Given the description of an element on the screen output the (x, y) to click on. 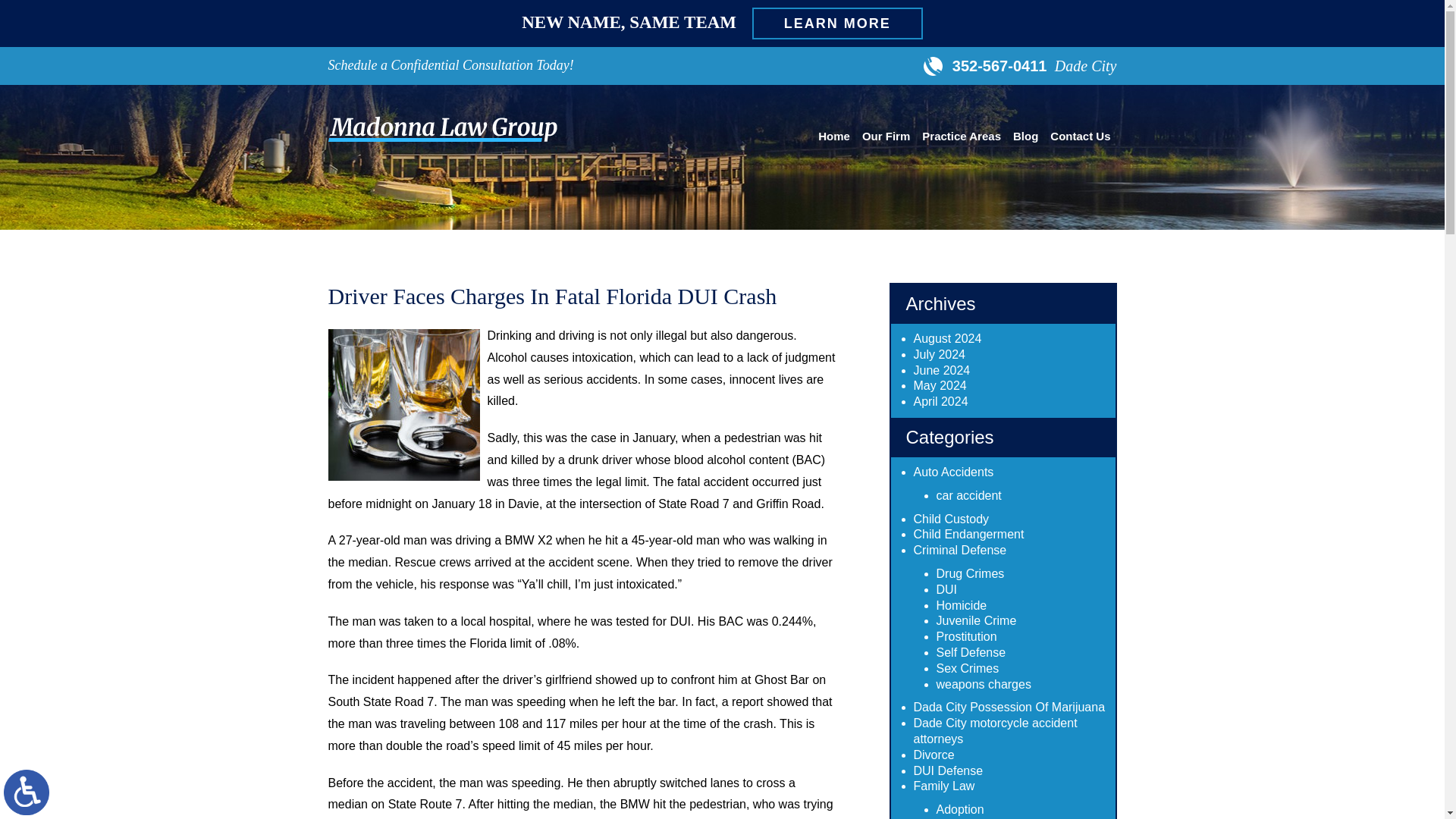
Practice Areas (961, 137)
LEARN MORE (837, 23)
DUI8 (403, 404)
352-567-0411 (987, 65)
Home (834, 137)
Our Firm (885, 137)
